Given the description of an element on the screen output the (x, y) to click on. 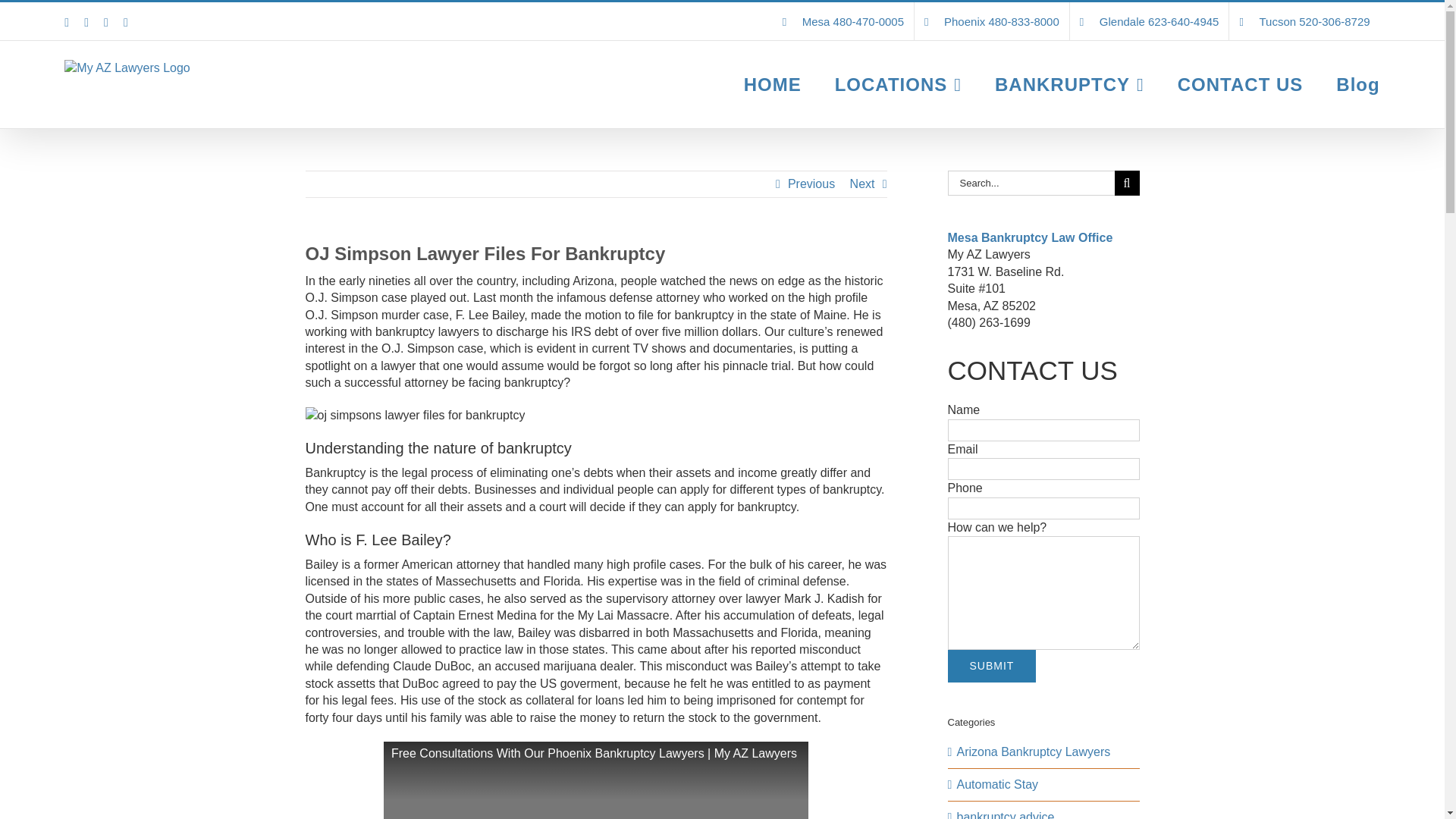
CONTACT US (1240, 83)
BANKRUPTCY (1069, 83)
LOCATIONS (897, 83)
Glendale 623-640-4945 (1149, 21)
SUBMIT (991, 666)
Mesa 480-470-0005 (843, 21)
Tucson 520-306-8729 (1303, 21)
Phoenix 480-833-8000 (991, 21)
